Given the description of an element on the screen output the (x, y) to click on. 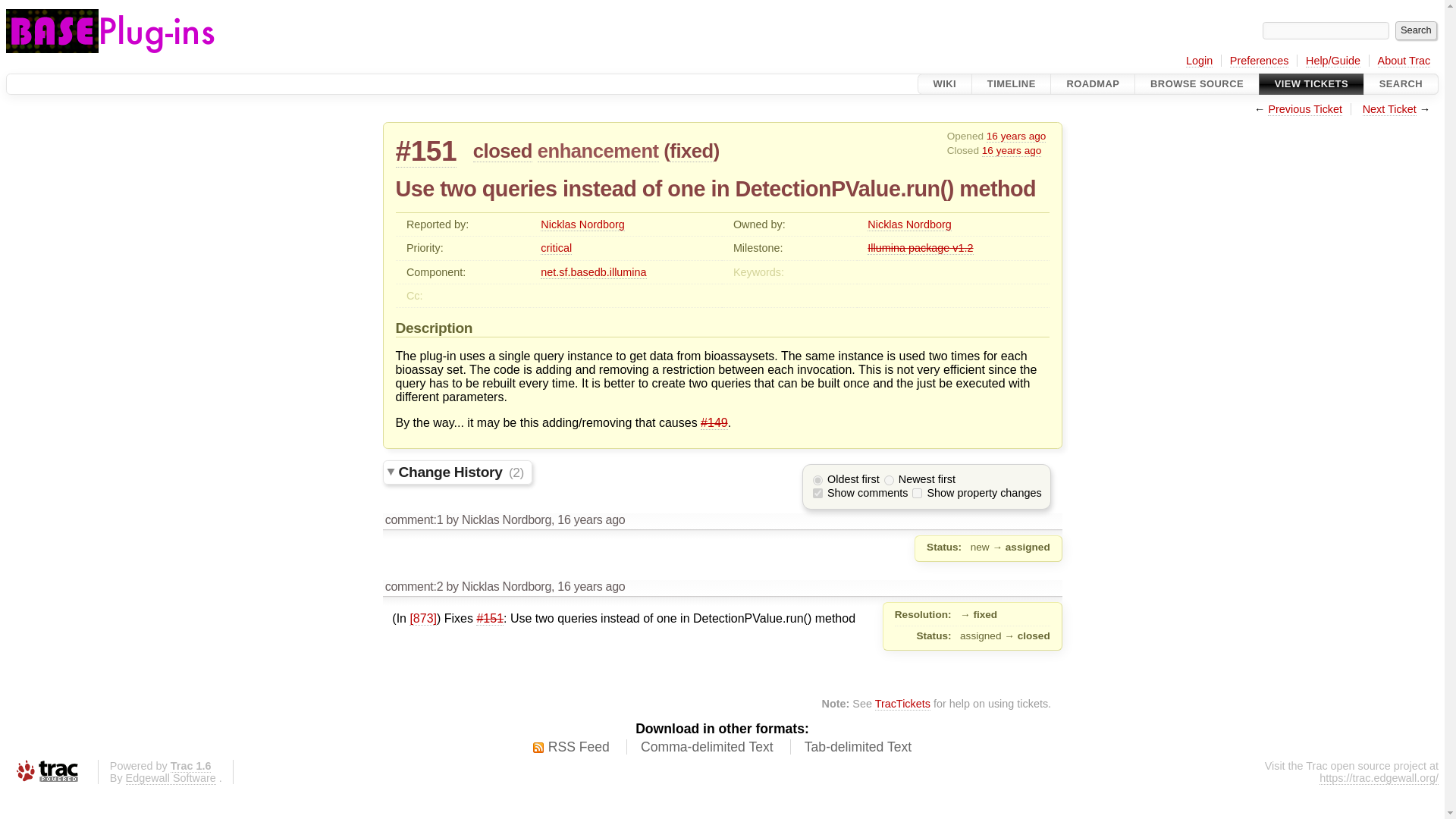
See timeline at Nov 28, 2008, 2:04:19 PM (1016, 136)
on (817, 492)
Trac 1.6 (190, 766)
16 years ago (1016, 136)
Tab-delimited Text (858, 747)
Login (1199, 60)
About Trac (1404, 60)
Next Ticket (1389, 109)
See timeline at Dec 2, 2008, 11:29:49 AM (590, 519)
See timeline at Dec 4, 2008, 11:53:05 AM (590, 585)
